Given the description of an element on the screen output the (x, y) to click on. 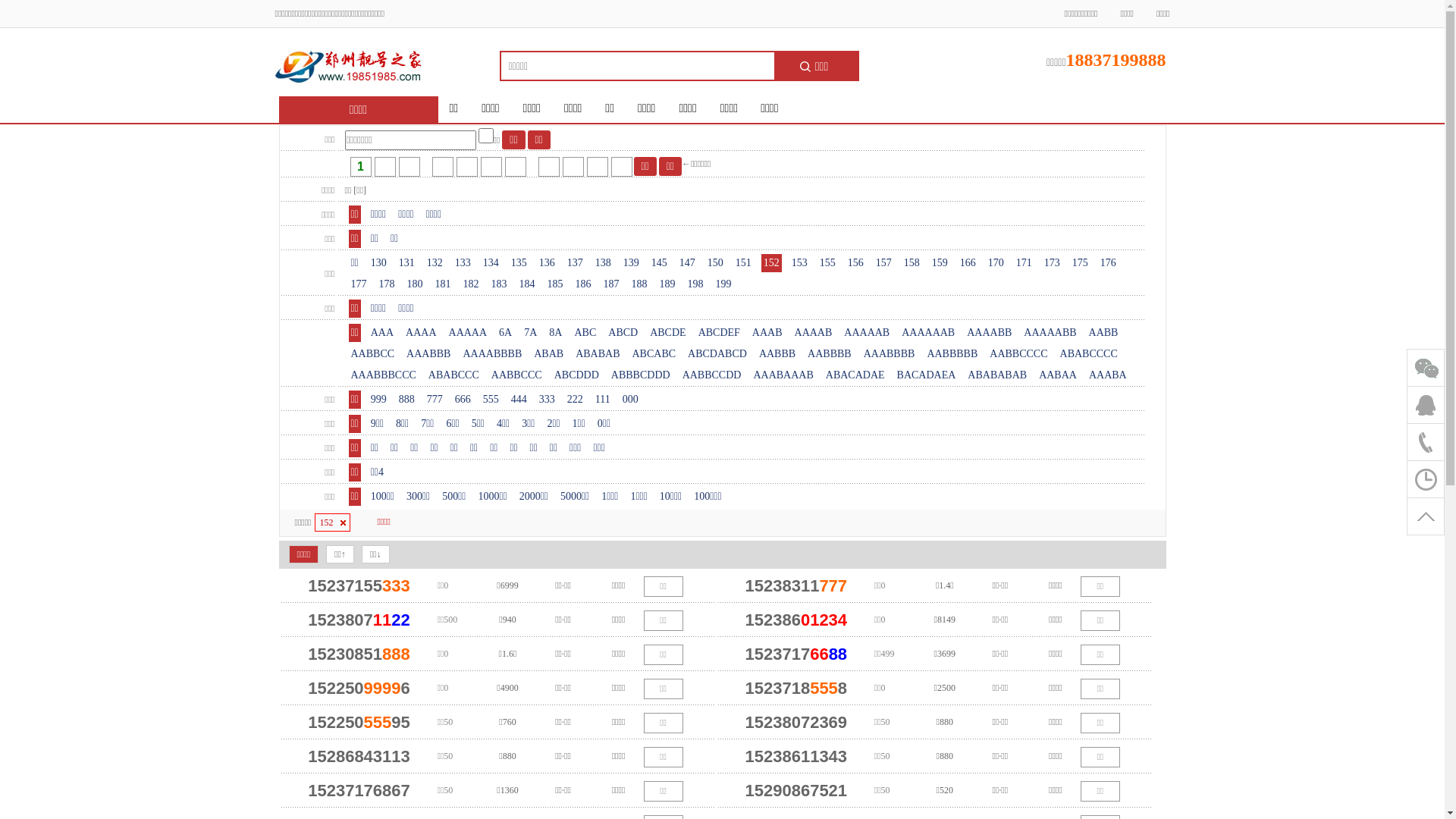
138 Element type: text (603, 263)
BACADAEA Element type: text (926, 375)
8A Element type: text (555, 332)
AABBBBB Element type: text (951, 354)
7A Element type: text (530, 332)
152 Element type: text (771, 263)
133 Element type: text (462, 263)
171 Element type: text (1023, 263)
AAAA Element type: text (420, 332)
156 Element type: text (855, 263)
159 Element type: text (939, 263)
136 Element type: text (546, 263)
131 Element type: text (406, 263)
111 Element type: text (602, 399)
ABCDE Element type: text (667, 332)
178 Element type: text (386, 284)
175 Element type: text (1080, 263)
AAABBB Element type: text (428, 354)
177 Element type: text (358, 284)
134 Element type: text (490, 263)
137 Element type: text (574, 263)
187 Element type: text (610, 284)
AABBCC Element type: text (372, 354)
AAAAA Element type: text (467, 332)
150 Element type: text (715, 263)
AABBCCCC Element type: text (1018, 354)
198 Element type: text (695, 284)
AAAAAAB Element type: text (928, 332)
ABABAB Element type: text (597, 354)
181 Element type: text (442, 284)
176 Element type: text (1108, 263)
AABAA Element type: text (1057, 375)
145 Element type: text (659, 263)
188 Element type: text (639, 284)
444 Element type: text (518, 399)
130 Element type: text (378, 263)
ABABABAB Element type: text (997, 375)
147 Element type: text (687, 263)
185 Element type: text (554, 284)
135 Element type: text (518, 263)
139 Element type: text (631, 263)
555 Element type: text (490, 399)
ABCDDD Element type: text (576, 375)
132 Element type: text (434, 263)
184 Element type: text (527, 284)
186 Element type: text (583, 284)
166 Element type: text (967, 263)
AAABBBCCC Element type: text (383, 375)
ABCD Element type: text (622, 332)
ABACADAE Element type: text (855, 375)
AAAABB Element type: text (988, 332)
ABABCCCC Element type: text (1088, 354)
152 Element type: text (332, 522)
ABCDABCD Element type: text (717, 354)
AABBBB Element type: text (829, 354)
AAAAB Element type: text (813, 332)
ABABCCC Element type: text (453, 375)
ABCABC Element type: text (653, 354)
155 Element type: text (827, 263)
ABAB Element type: text (548, 354)
182 Element type: text (471, 284)
173 Element type: text (1051, 263)
ABBBCDDD Element type: text (640, 375)
153 Element type: text (799, 263)
6A Element type: text (505, 332)
199 Element type: text (722, 284)
189 Element type: text (666, 284)
222 Element type: text (574, 399)
999 Element type: text (378, 399)
ABC Element type: text (584, 332)
180 Element type: text (414, 284)
AAAB Element type: text (766, 332)
170 Element type: text (995, 263)
AABBCCDD Element type: text (711, 375)
151 Element type: text (743, 263)
183 Element type: text (498, 284)
AAABAAAB Element type: text (782, 375)
ABCDEF Element type: text (719, 332)
158 Element type: text (911, 263)
AAABA Element type: text (1107, 375)
AAABBBB Element type: text (889, 354)
333 Element type: text (546, 399)
157 Element type: text (883, 263)
666 Element type: text (462, 399)
000 Element type: text (630, 399)
AAAAAB Element type: text (866, 332)
888 Element type: text (406, 399)
AABBCCC Element type: text (516, 375)
AABB Element type: text (1103, 332)
AABBB Element type: text (776, 354)
777 Element type: text (434, 399)
AAA Element type: text (381, 332)
AAAABBBB Element type: text (492, 354)
AAAAABB Element type: text (1049, 332)
